Given the description of an element on the screen output the (x, y) to click on. 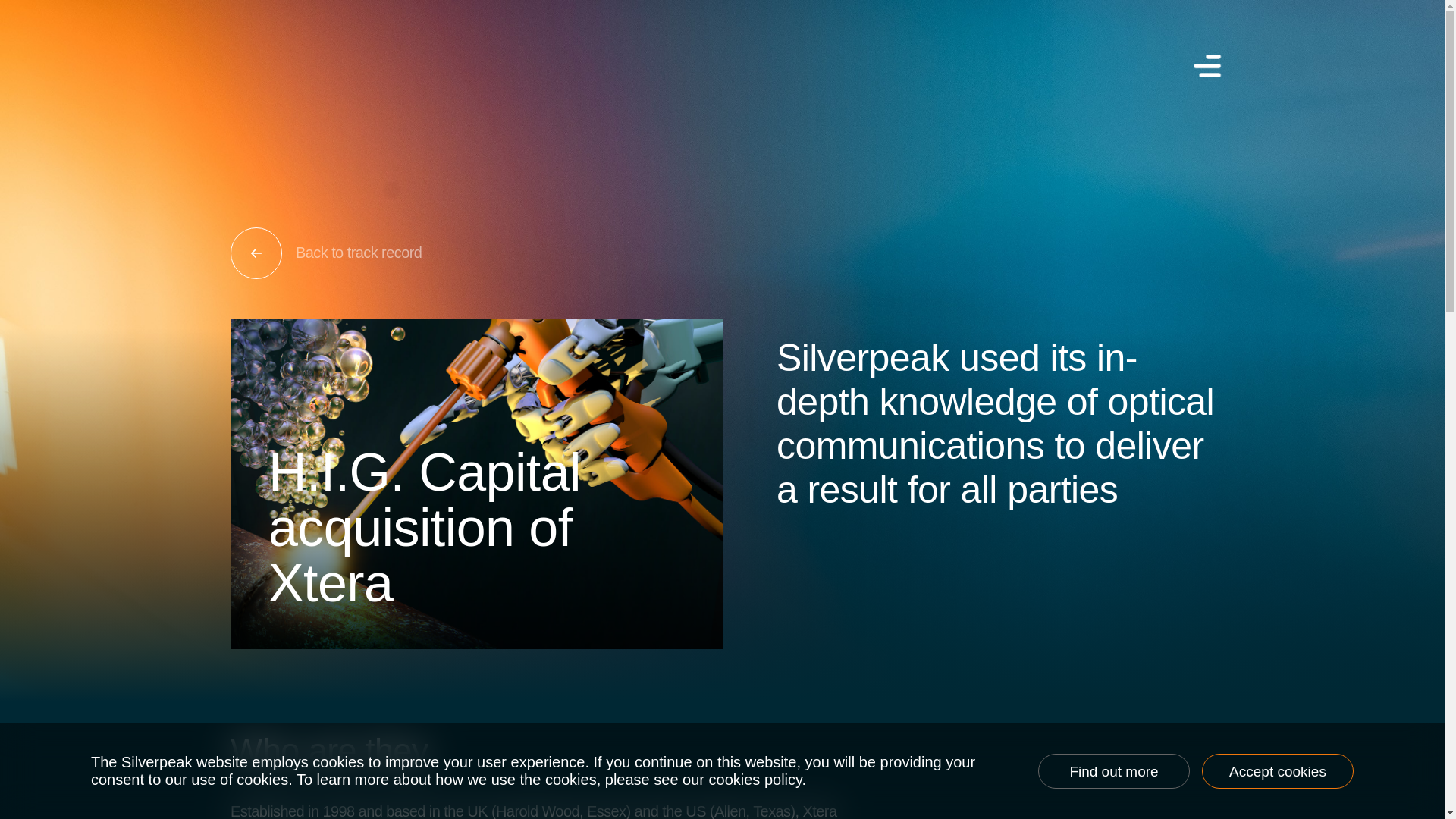
Menu (1205, 65)
Back to track record (727, 252)
Find out more (1113, 770)
Accept cookies (1278, 770)
